Given the description of an element on the screen output the (x, y) to click on. 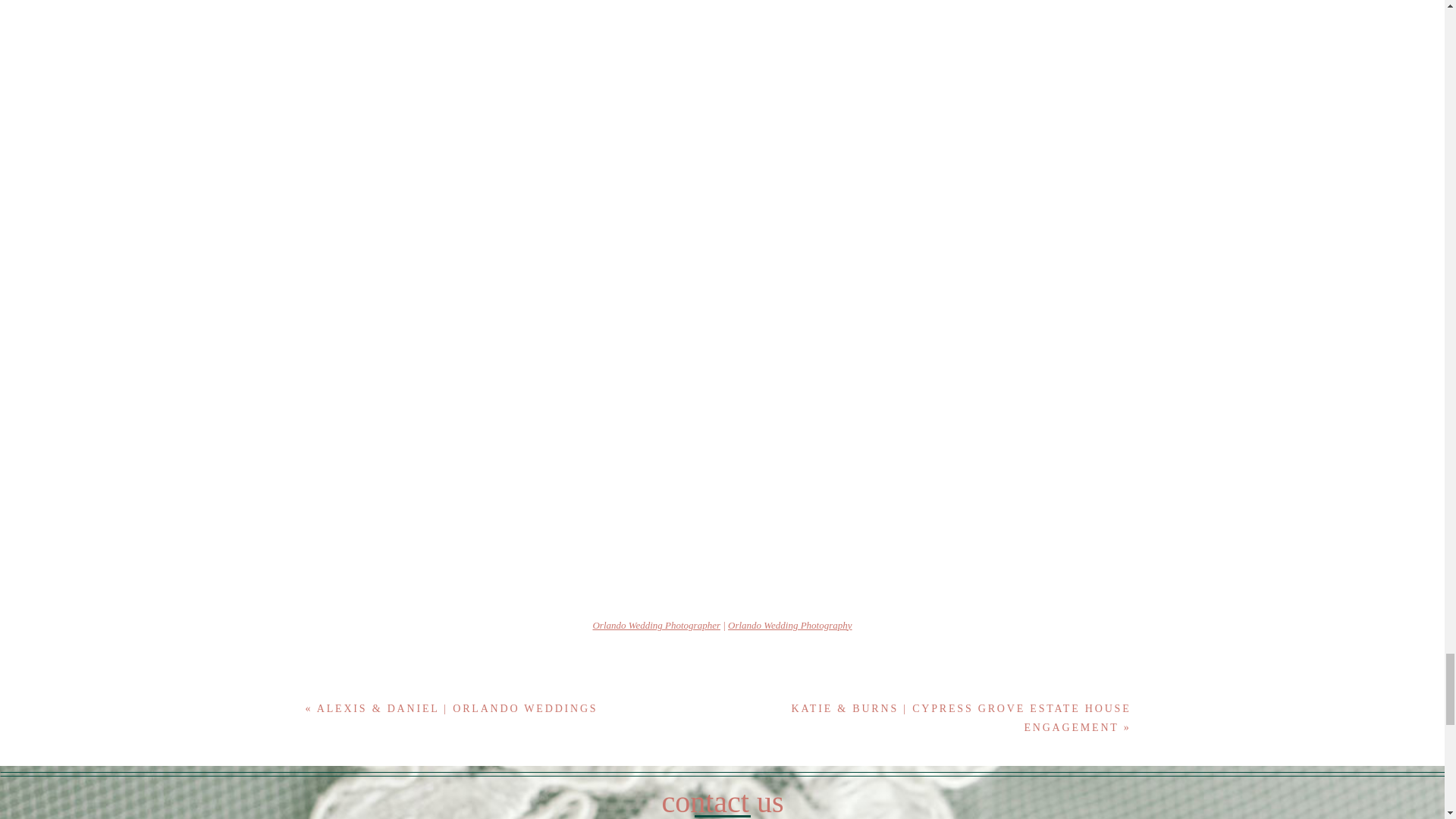
contact us (723, 798)
Orlando Wedding Photography (789, 624)
Orlando Wedding Photographer (656, 624)
